Given the description of an element on the screen output the (x, y) to click on. 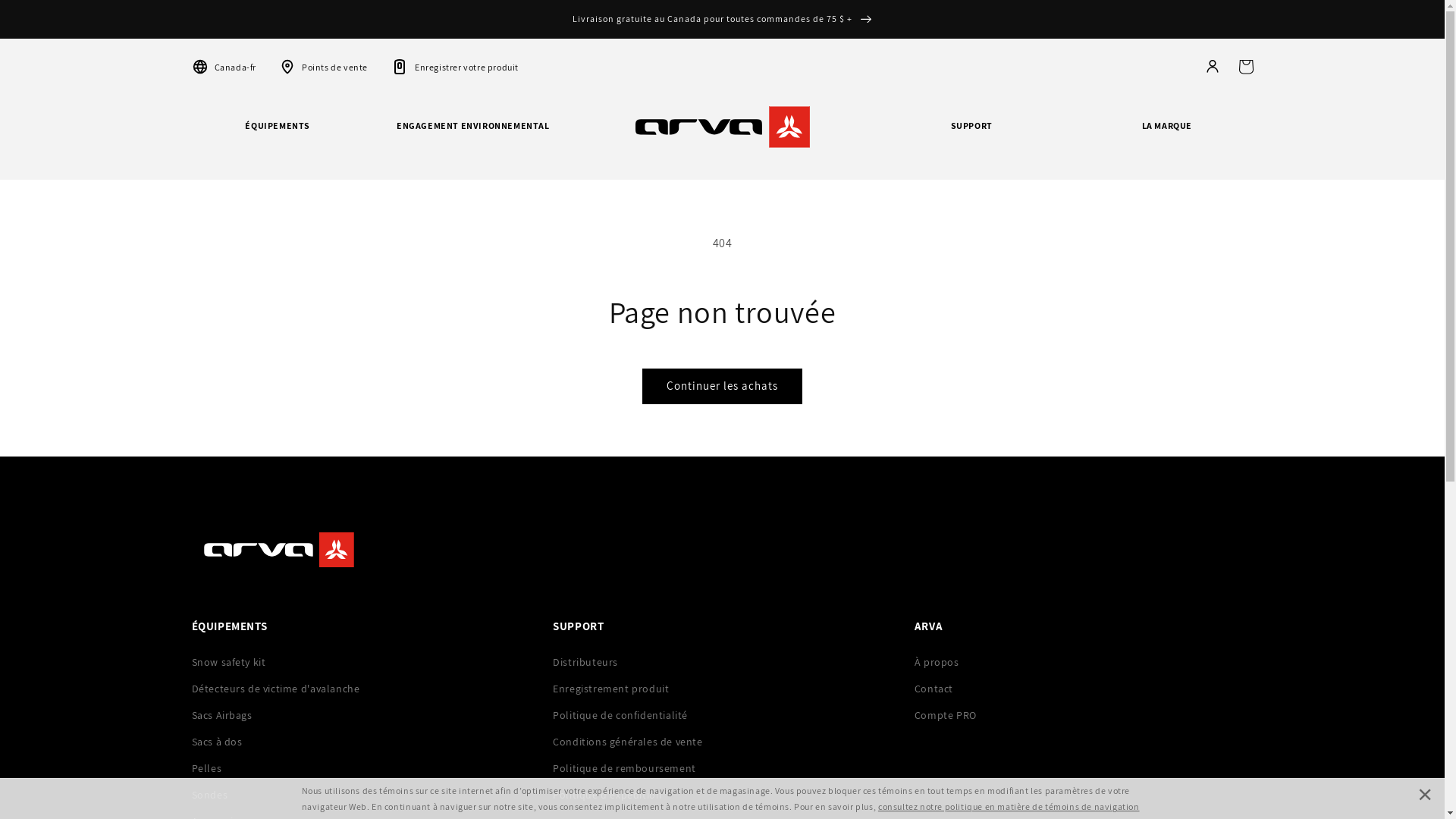
Points de vente Element type: text (323, 66)
Livraison gratuite au Canada pour toutes commandes de 75 $ + Element type: text (722, 18)
Sondes Element type: text (360, 794)
Continuer les achats Element type: text (722, 386)
Distributeurs Element type: text (721, 661)
Panier Element type: text (1244, 66)
Sacs Airbags Element type: text (360, 714)
LA MARQUE Element type: text (1166, 136)
Enregistrer votre produit Element type: text (454, 66)
SUPPORT Element type: text (971, 136)
Snow safety kit Element type: text (360, 661)
ENGAGEMENT ENVIRONNEMENTAL Element type: text (473, 136)
Enregistrement produit Element type: text (721, 688)
Canada-fr Element type: text (223, 66)
Contact Element type: text (1083, 688)
Compte PRO Element type: text (1083, 714)
Politique de remboursement Element type: text (721, 767)
Pelles Element type: text (360, 767)
